Given the description of an element on the screen output the (x, y) to click on. 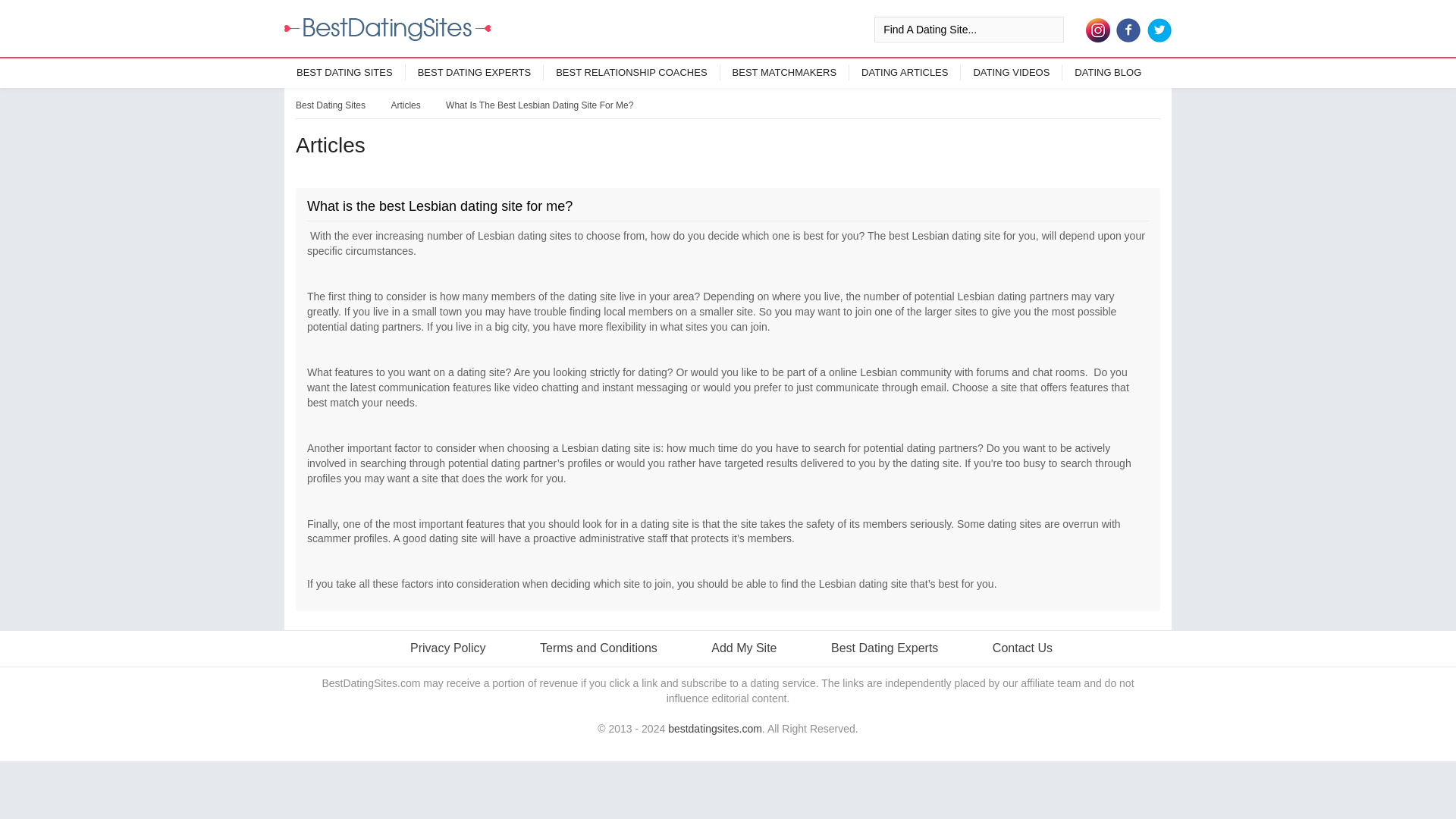
Terms and Conditions (595, 647)
DATING BLOG (1107, 72)
Best Dating Sites (330, 104)
BEST DATING SITES (344, 72)
Privacy Policy (444, 647)
bestdatingsites.com (714, 728)
What Is The Best Lesbian Dating Site For Me? (539, 104)
Find A Dating Site... (968, 28)
BEST DATING EXPERTS (475, 72)
Articles (405, 104)
